Given the description of an element on the screen output the (x, y) to click on. 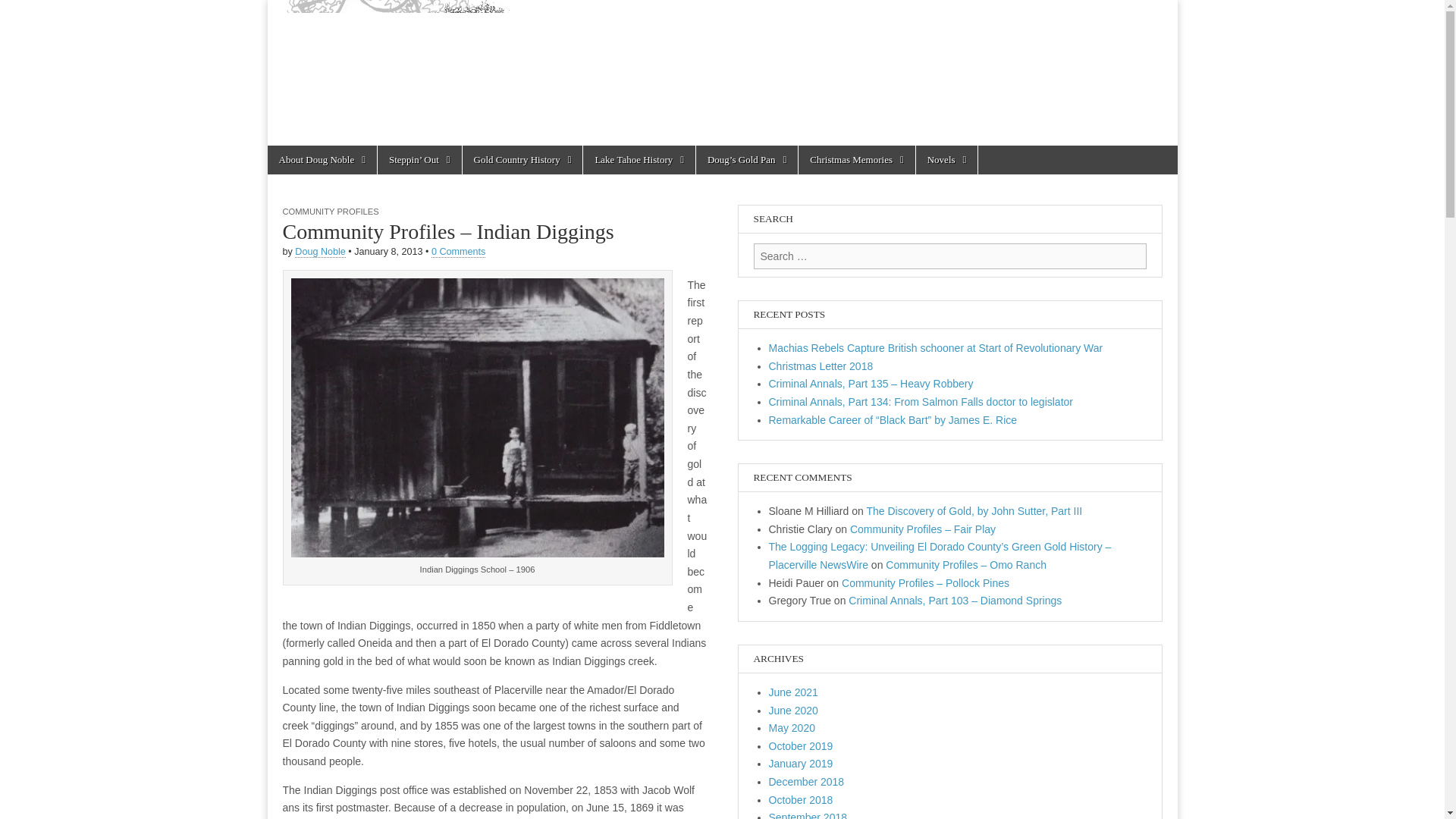
About Doug Noble (320, 159)
Lake Tahoe History (639, 159)
Posts by Doug Noble (320, 251)
Christmas Memories (855, 159)
Novels (946, 159)
COMMUNITY PROFILES (330, 211)
Gold Country History (523, 159)
Doug Steps Out (721, 72)
